Given the description of an element on the screen output the (x, y) to click on. 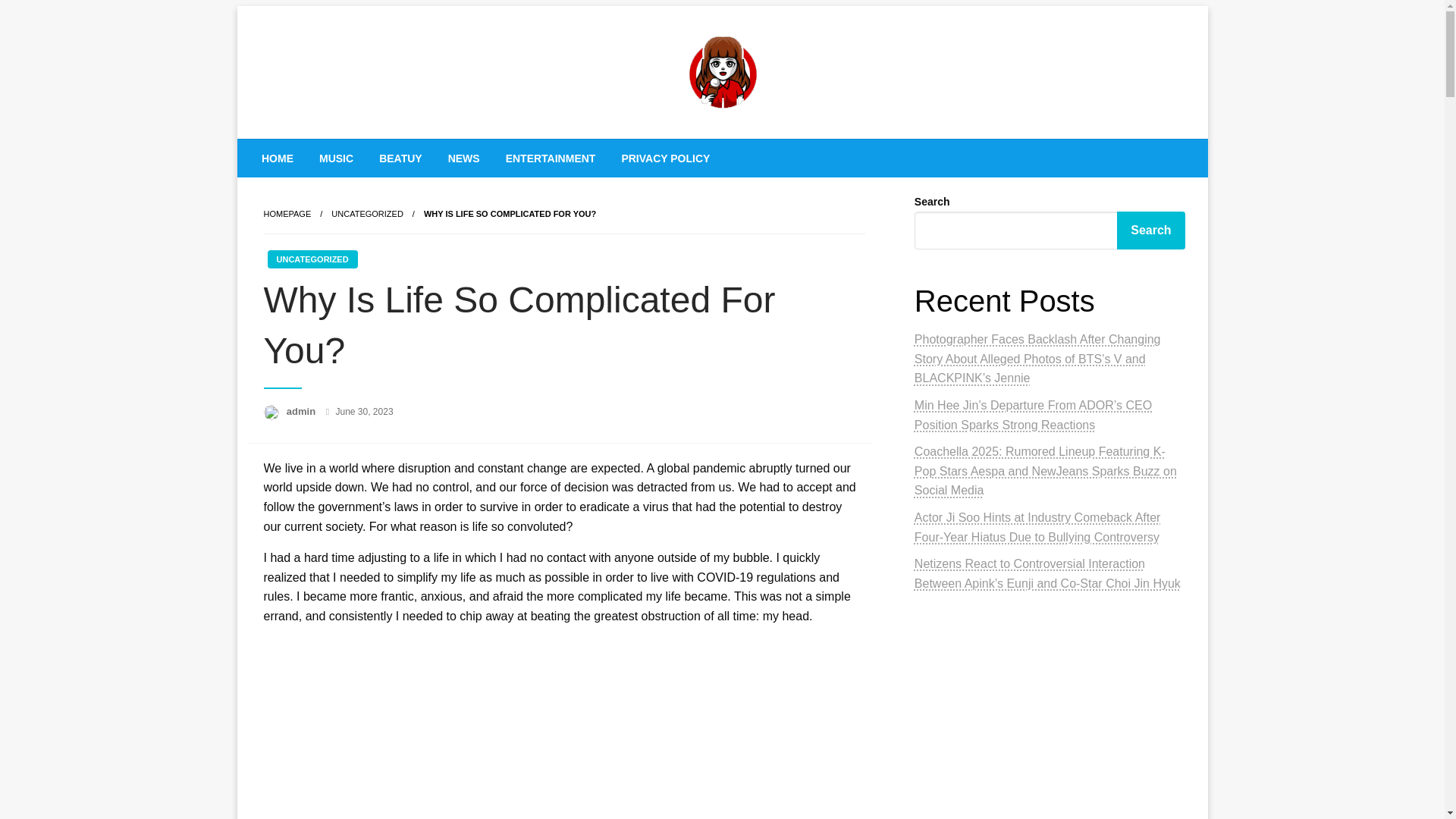
HOME (276, 158)
June 30, 2023 (363, 411)
Uncategorized (367, 213)
MUSIC (335, 158)
Why Is Life So Complicated For You? (509, 213)
BEATUY (400, 158)
ENTERTAINMENT (550, 158)
UNCATEGORIZED (367, 213)
UNCATEGORIZED (311, 259)
admin (302, 410)
